Given the description of an element on the screen output the (x, y) to click on. 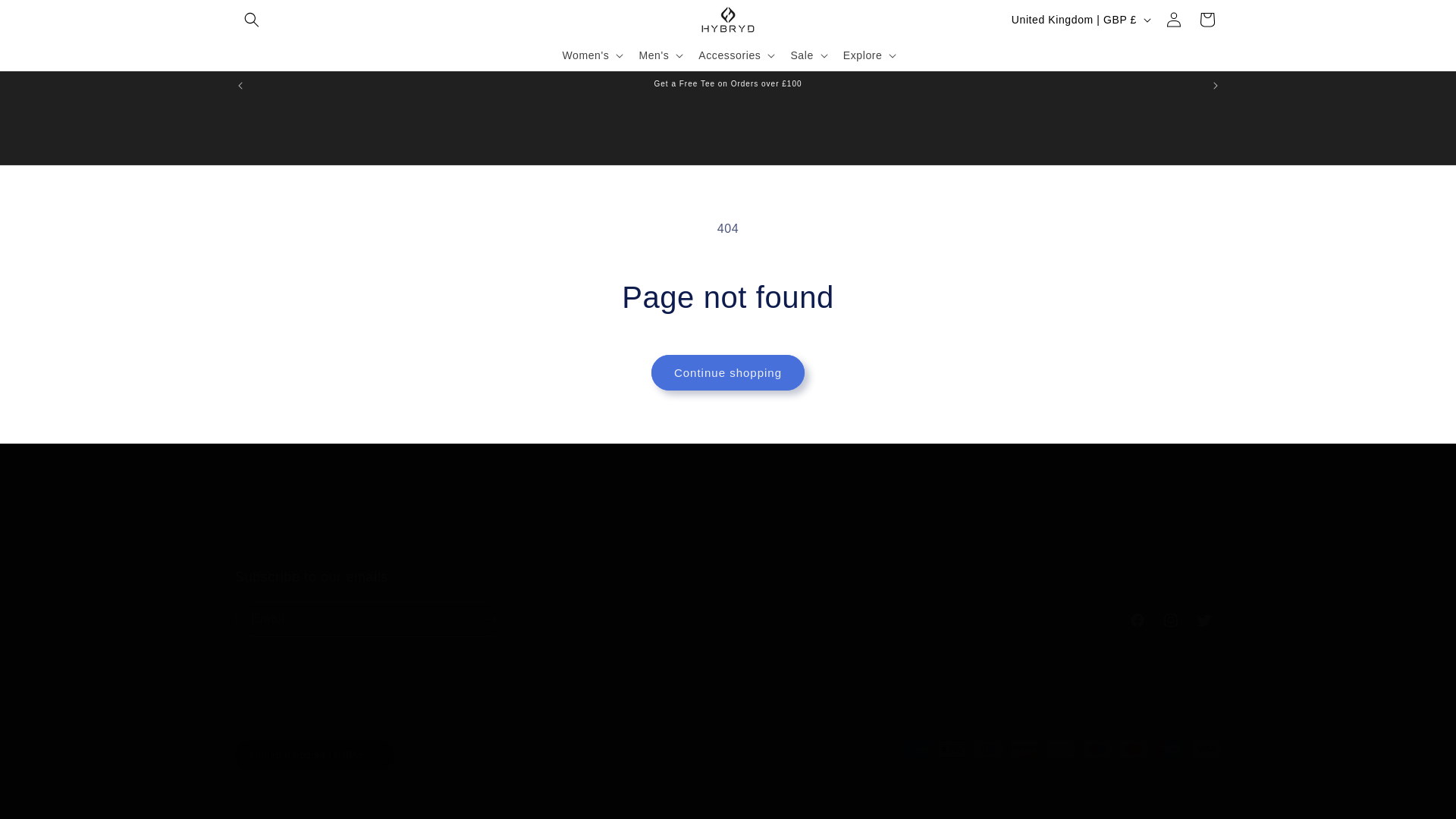
Skip to content (45, 17)
